Given the description of an element on the screen output the (x, y) to click on. 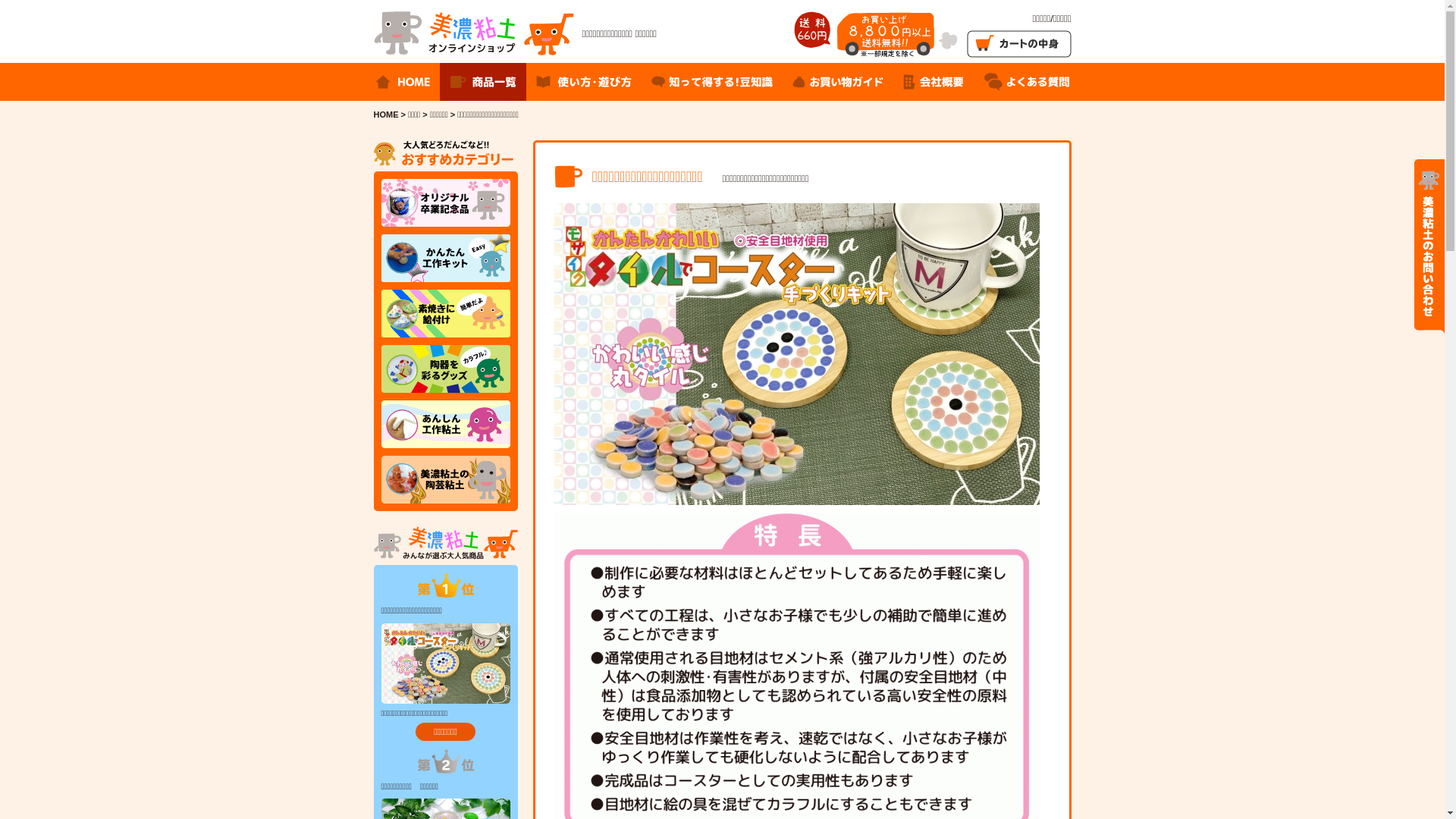
HOME Element type: text (385, 114)
